Given the description of an element on the screen output the (x, y) to click on. 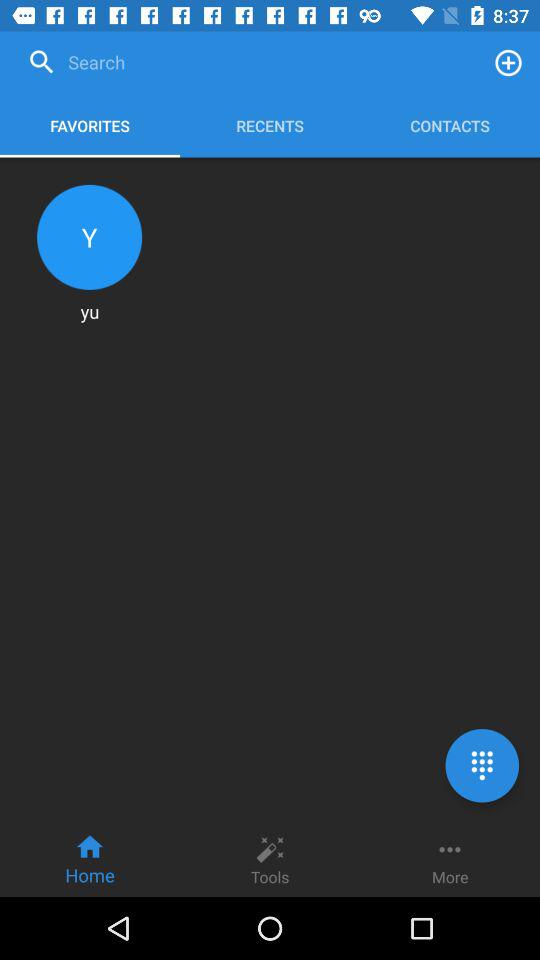
go to keypad (482, 765)
